Given the description of an element on the screen output the (x, y) to click on. 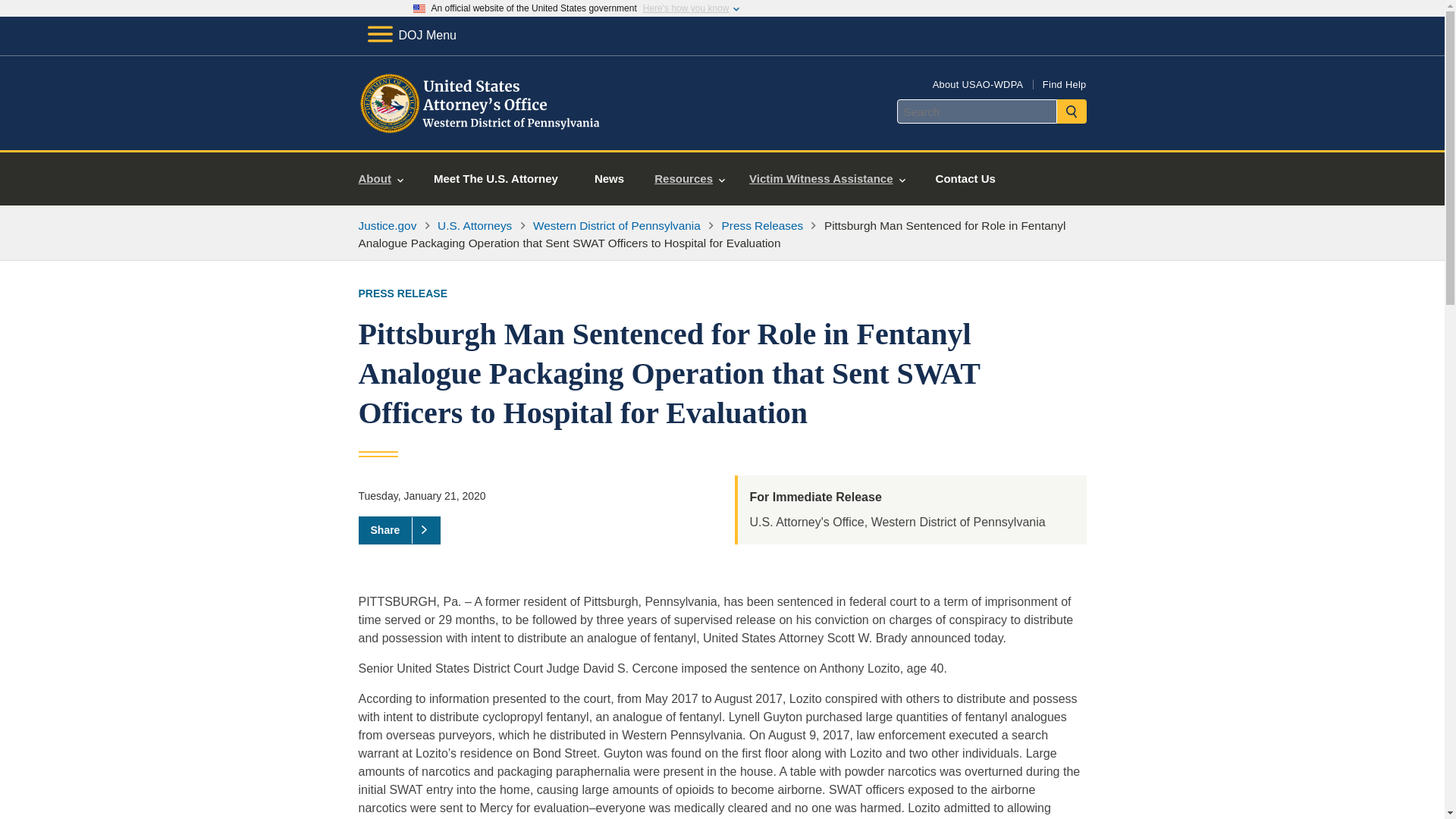
About USAO-WDPA (978, 84)
Resources (689, 179)
DOJ Menu (411, 35)
Home (481, 132)
Victim Witness Assistance (826, 179)
Justice.gov (387, 225)
News (609, 179)
Contact Us (965, 179)
Share (398, 529)
About (380, 179)
Here's how you know (686, 8)
Western District of Pennsylvania (616, 225)
U.S. Attorneys (475, 225)
Press Releases (762, 225)
Meet The U.S. Attorney (495, 179)
